Given the description of an element on the screen output the (x, y) to click on. 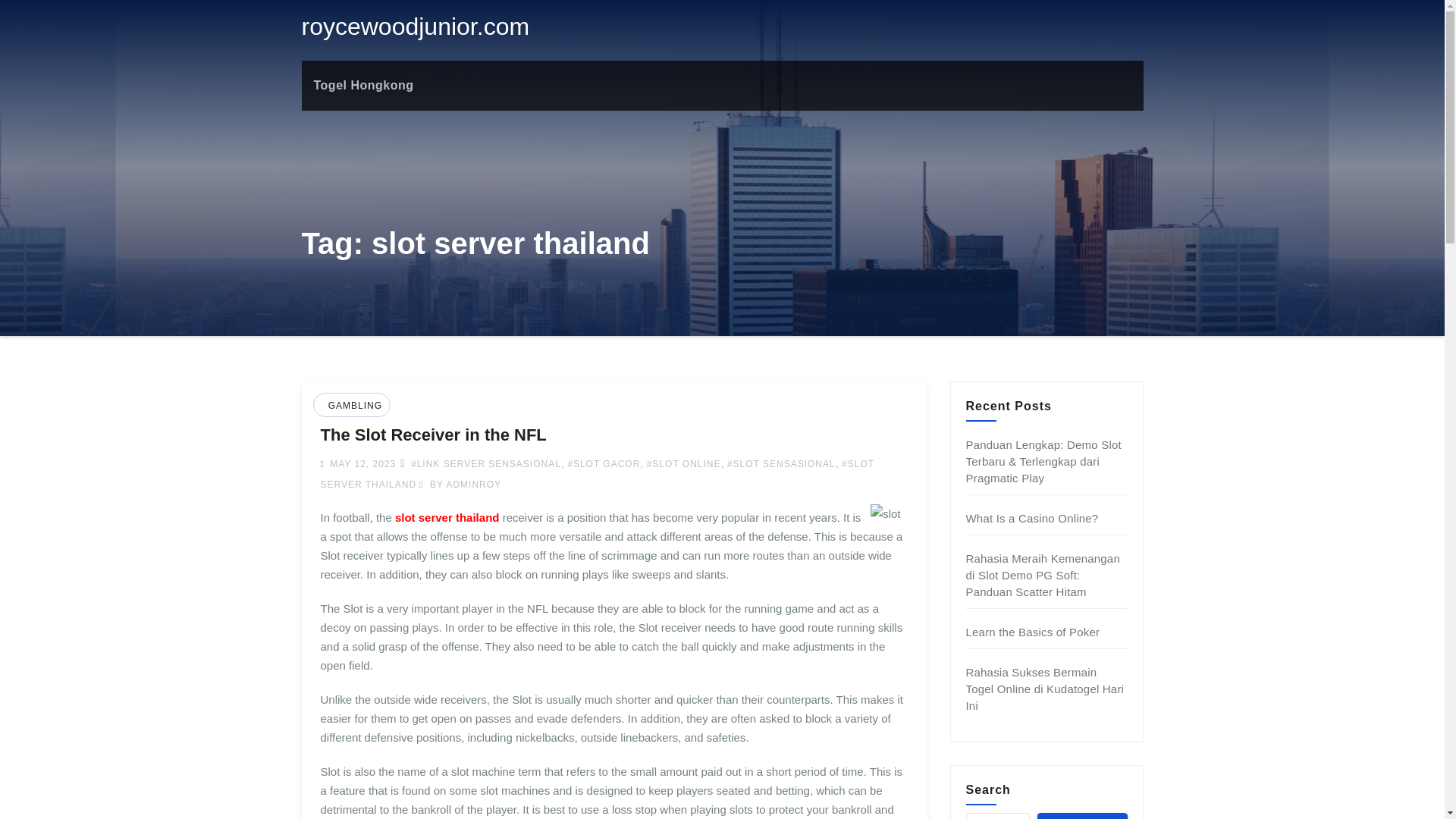
Rahasia Sukses Bermain Togel Online di Kudatogel Hari Ini (1045, 688)
The Slot Receiver in the NFL (433, 434)
MAY 12, 2023 (361, 463)
What Is a Casino Online? (1032, 517)
slot server thailand (446, 517)
Togel Hongkong (363, 85)
BY ADMINROY (459, 484)
GAMBLING (352, 405)
Learn the Basics of Poker (1033, 631)
Togel Hongkong (363, 85)
Search (1081, 816)
Permalink to: The Slot Receiver in the NFL (433, 434)
roycewoodjunior.com (415, 26)
